Given the description of an element on the screen output the (x, y) to click on. 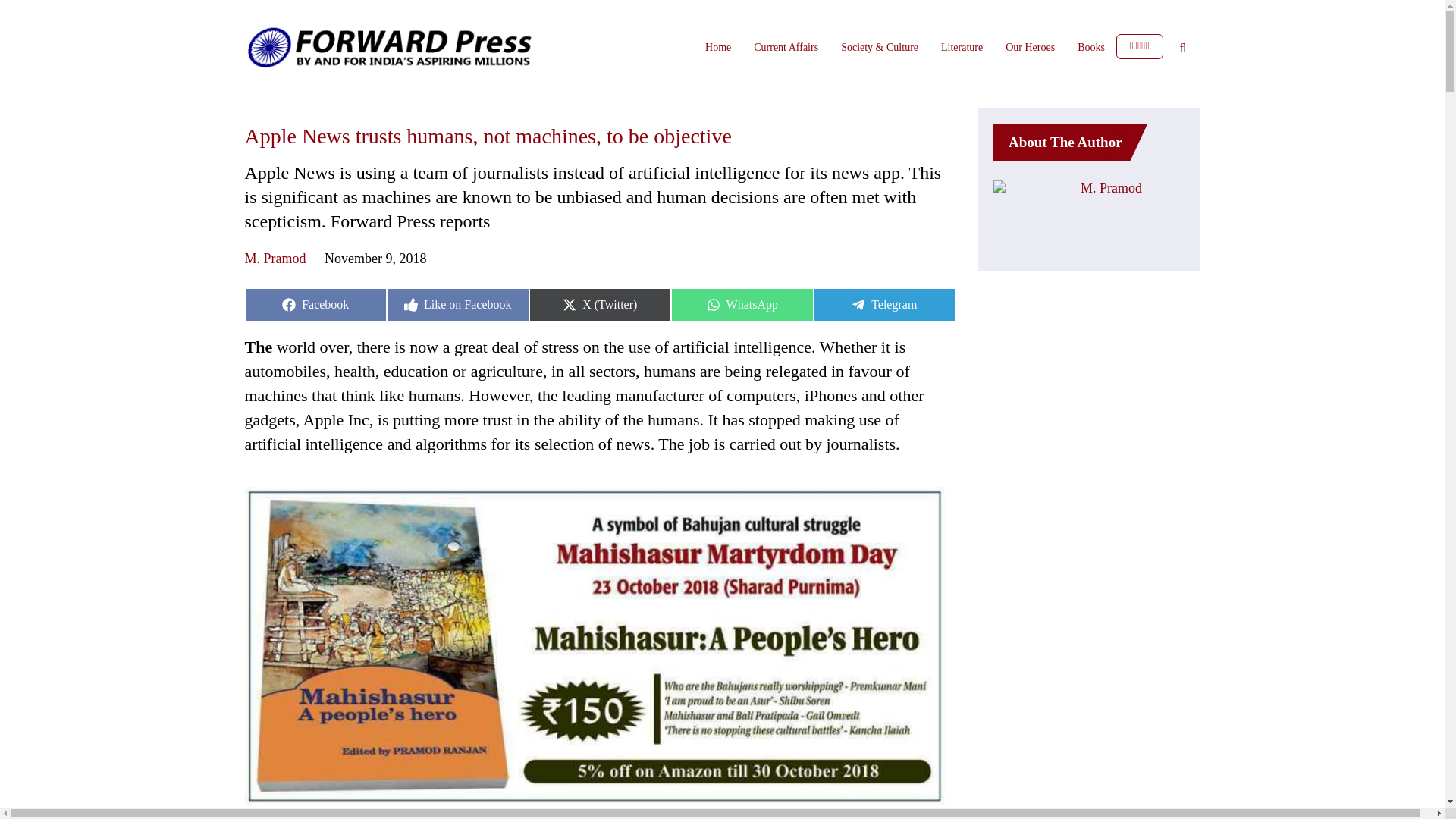
Current Affairs (315, 304)
Books (458, 304)
Home (785, 47)
Our Heroes (742, 304)
Literature (883, 304)
M. Pramod (1091, 47)
